Given the description of an element on the screen output the (x, y) to click on. 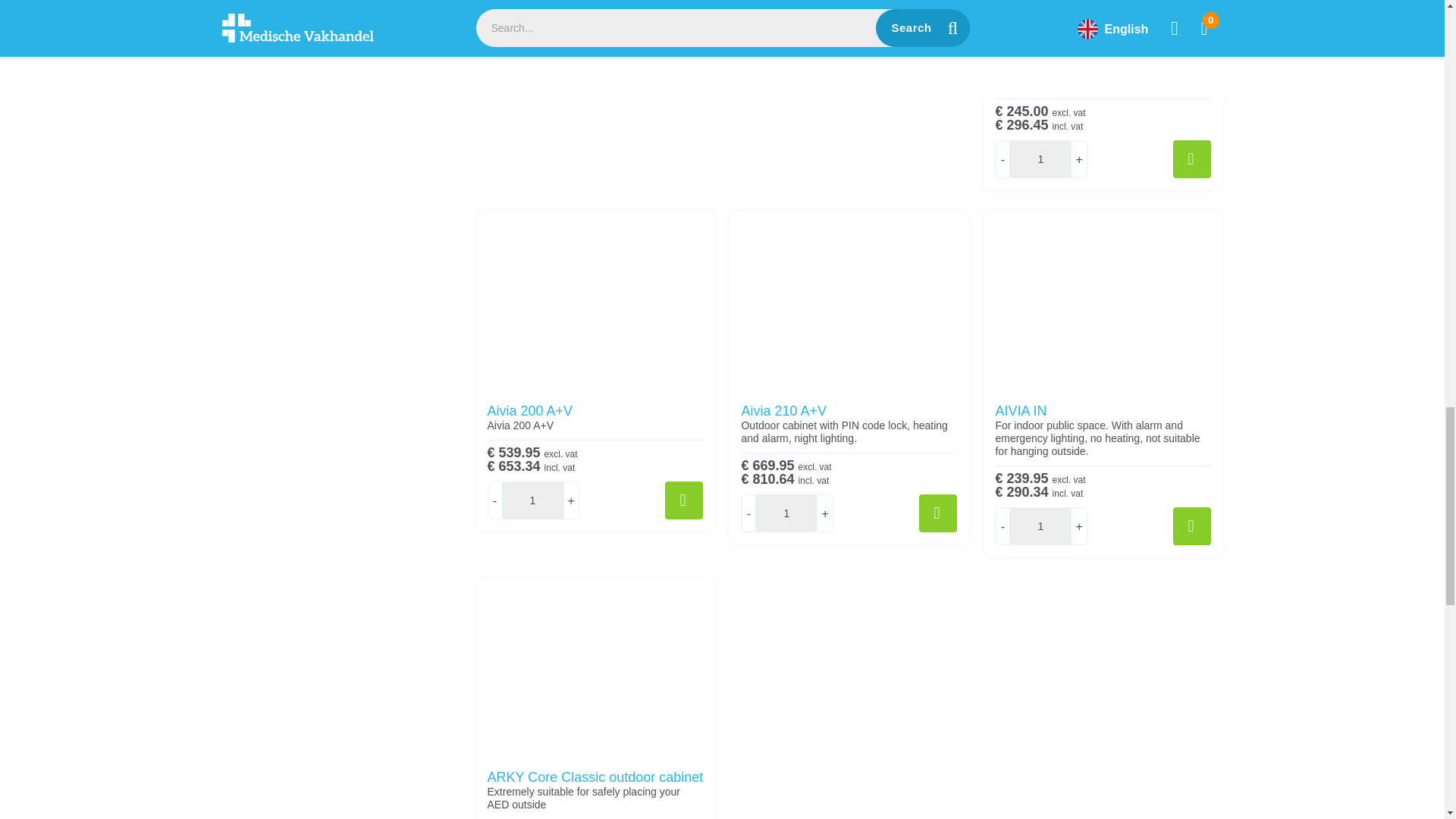
AED Wall cabinet white - break glass alarm (1103, 17)
AIVIA IN (1103, 301)
ARKY Core Classic outdoor cabinet (595, 668)
1 (1040, 525)
1 (532, 500)
1 (785, 513)
1 (1040, 159)
